Given the description of an element on the screen output the (x, y) to click on. 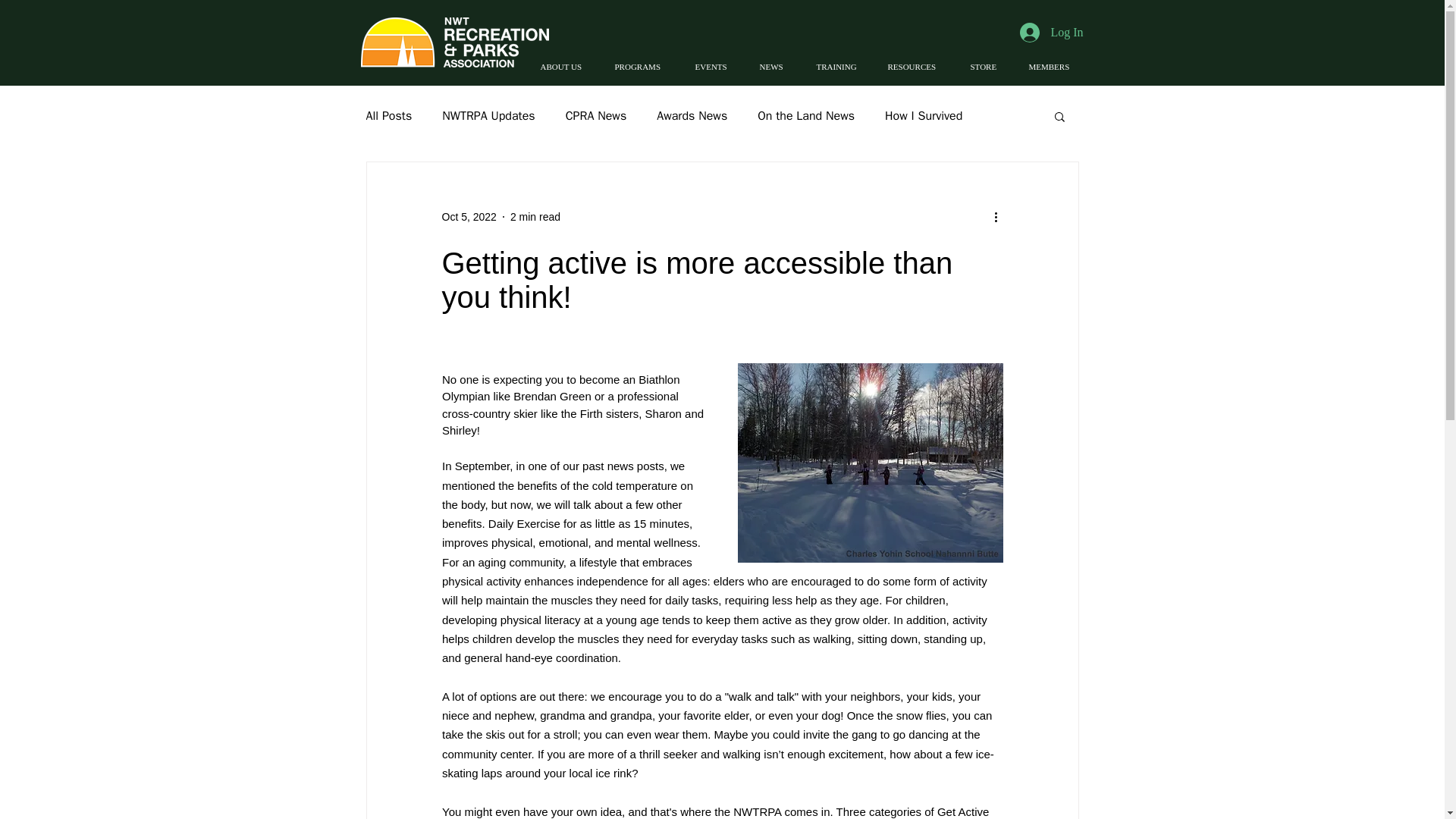
MEMBERS (1053, 66)
EVENTS (716, 66)
NWTRPA Updates (488, 115)
2 min read (535, 216)
All Posts (388, 115)
STORE (987, 66)
NEWS (776, 66)
TRAINING (840, 66)
ABOUT US (566, 66)
CPRA News (596, 115)
Log In (1051, 31)
Oct 5, 2022 (468, 216)
